Given the description of an element on the screen output the (x, y) to click on. 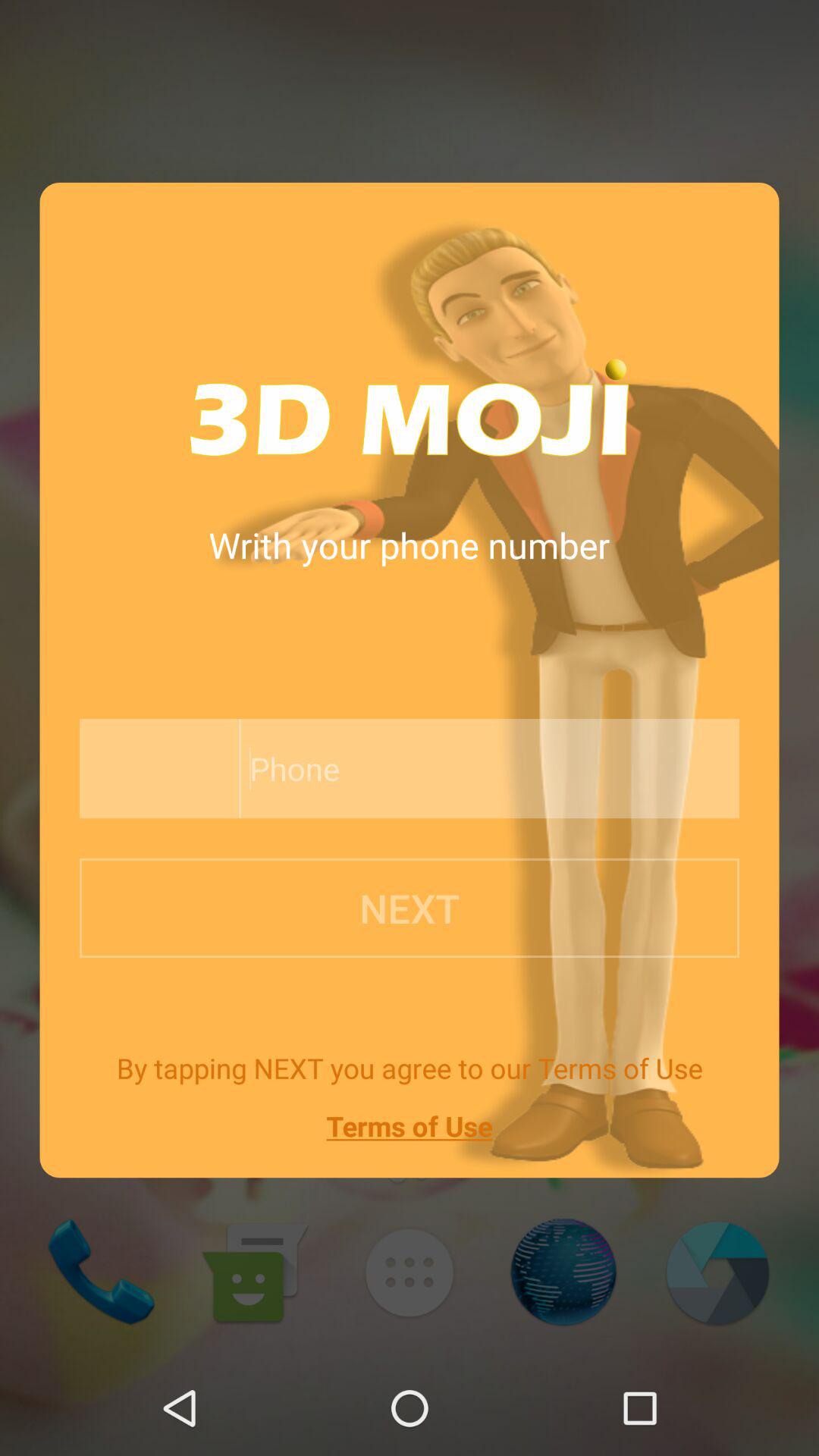
turn on the icon above next button (154, 768)
